Given the description of an element on the screen output the (x, y) to click on. 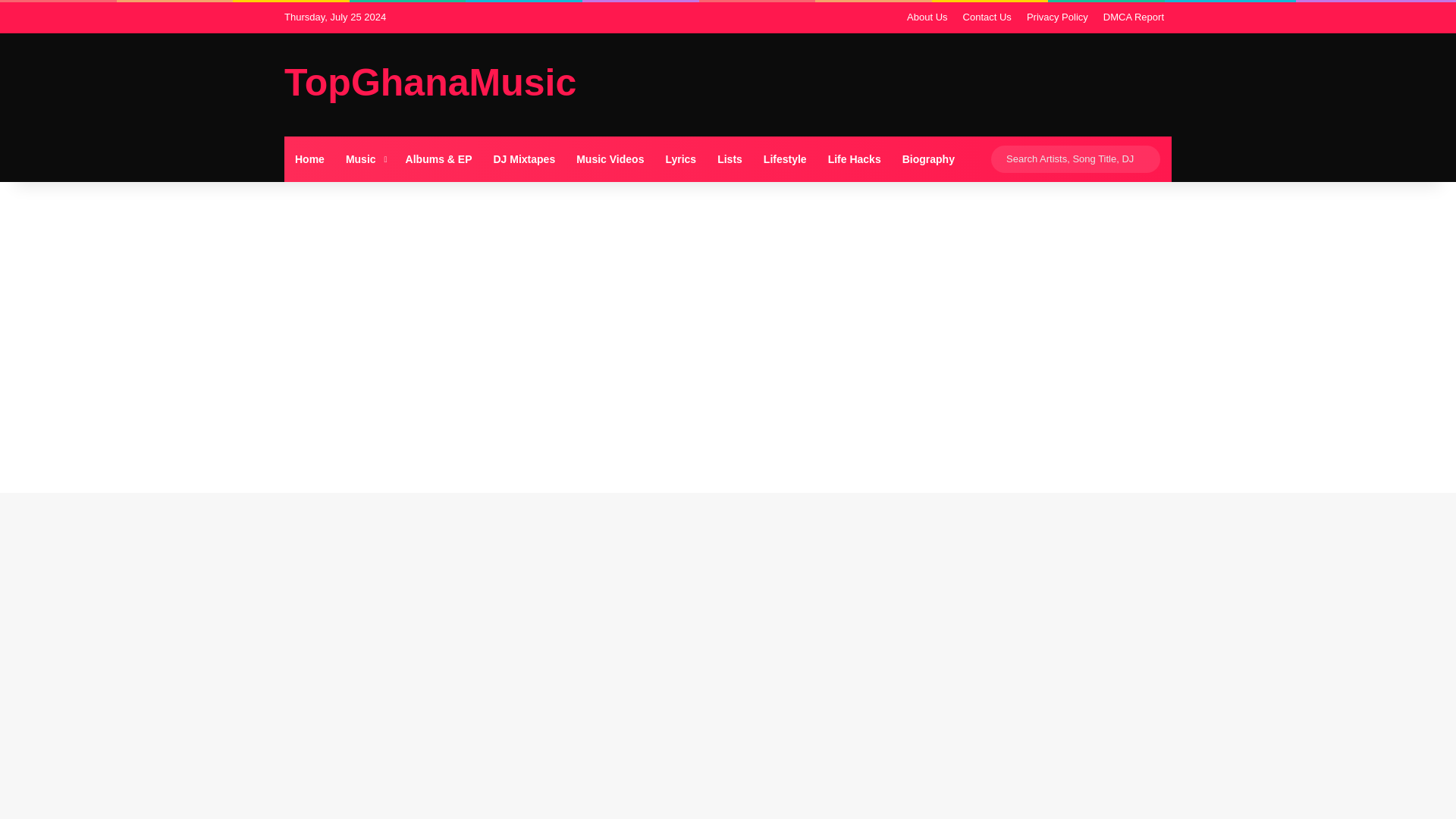
Biography (928, 158)
Search Artists, Song Title, DJ Mixtapes, etc... (1075, 158)
Life Hacks (853, 158)
Privacy Policy (1057, 17)
Music Videos (609, 158)
Lists (729, 158)
Search Artists, Song Title, DJ Mixtapes, etc... (1144, 158)
Home (308, 158)
TopGhanaMusic (429, 82)
Music (364, 158)
Lyrics (679, 158)
TopGhanaMusic (429, 82)
About Us (927, 17)
Contact Us (987, 17)
DMCA Report (1134, 17)
